Given the description of an element on the screen output the (x, y) to click on. 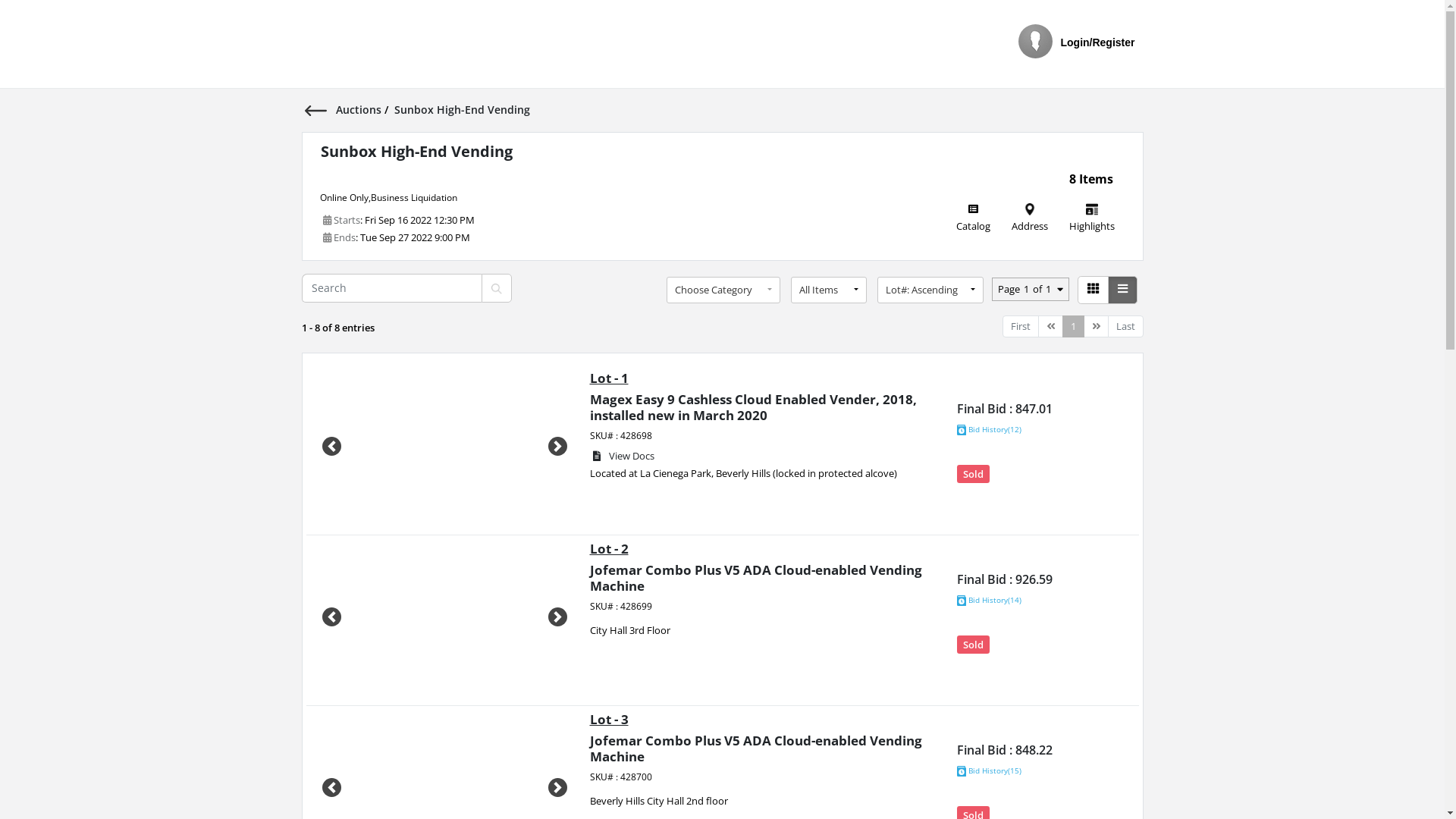
Address Element type: text (1029, 224)
Previous Element type: text (332, 446)
Next Element type: text (557, 617)
Bid History(15) Element type: text (989, 771)
Catalog Element type: text (972, 224)
View Docs Element type: text (623, 456)
All Items Element type: text (828, 290)
Bid History(12) Element type: text (989, 429)
Last Element type: text (1124, 326)
Next Element type: text (557, 446)
List View Element type: hover (1121, 290)
1 Element type: text (1072, 326)
Choose Category Element type: text (722, 290)
Login/Register Element type: text (1097, 46)
Jofemar Combo Plus V5 ADA Cloud-enabled Vending Machine Element type: text (755, 577)
Lot#: Ascending Element type: text (929, 290)
Grid View  Element type: hover (1091, 290)
Lot - 1 Element type: text (608, 377)
Sunbox High-End Vending Element type: text (415, 151)
Previous Element type: text (1049, 326)
Auctions Element type: text (359, 109)
Lot - 2 Element type: text (608, 548)
Lot - 3 Element type: text (608, 719)
Highlights Element type: text (1091, 224)
First Element type: text (1020, 326)
Previous Element type: text (332, 617)
Next Element type: text (1094, 326)
Jofemar Combo Plus V5 ADA Cloud-enabled Vending Machine Element type: text (755, 747)
Bid History(14) Element type: text (989, 600)
Go Back Element type: hover (319, 109)
